Given the description of an element on the screen output the (x, y) to click on. 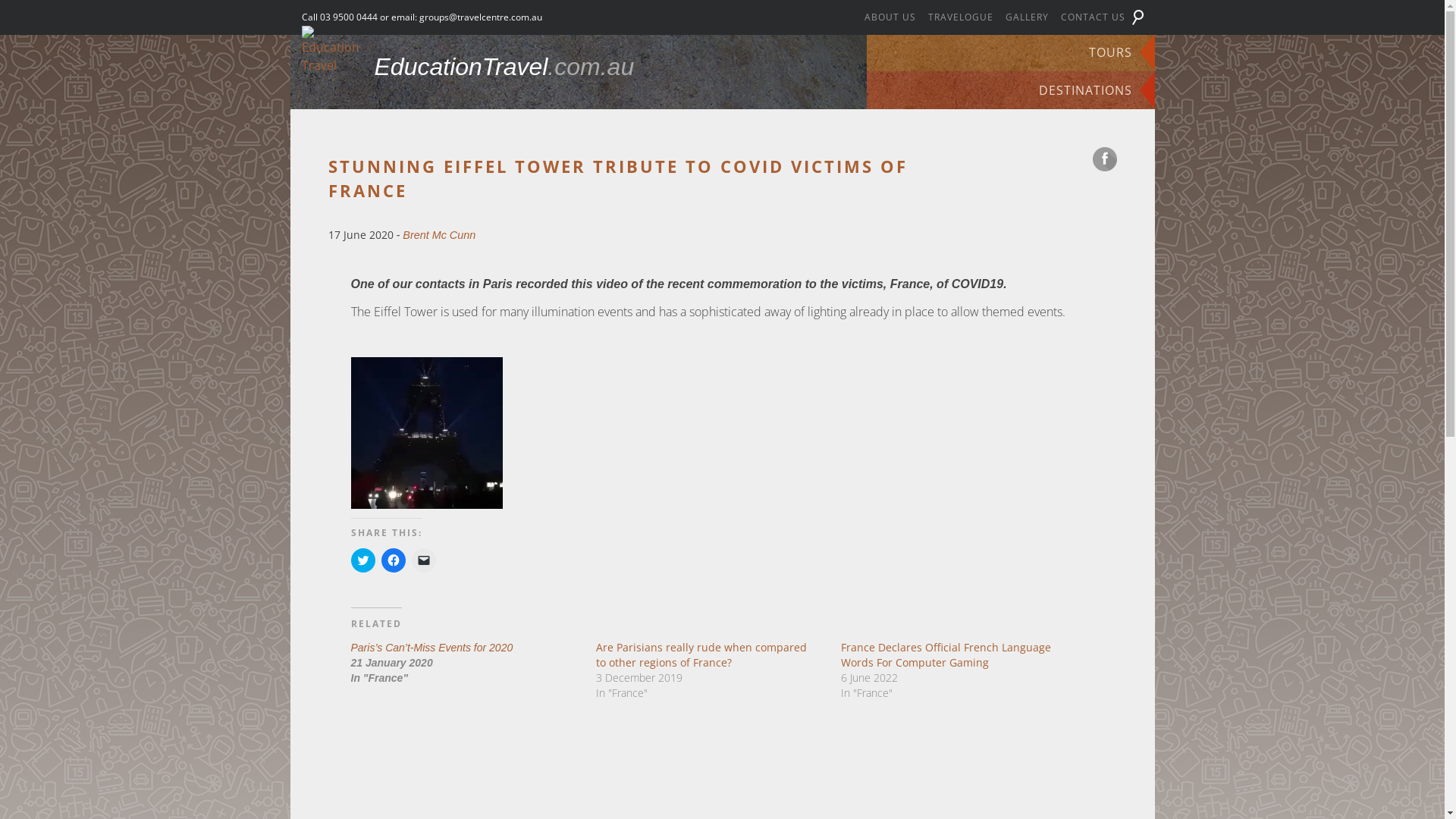
TOURS Element type: text (1010, 52)
TRAVELOGUE Element type: text (960, 17)
groups@travelcentre.com.au Element type: text (479, 16)
Search Element type: text (32, 14)
Brent Mc Cunn Element type: text (438, 235)
CLICK TO SHARE ON FACEBOOK (OPENS IN NEW WINDOW) Element type: text (392, 560)
CLICK TO SHARE ON TWITTER (OPENS IN NEW WINDOW) Element type: text (362, 560)
ABOUT US Element type: text (890, 17)
GALLERY Element type: text (1026, 17)
CONTACT US Element type: text (1092, 17)
03 9500 0444 Element type: text (348, 16)
CLICK TO EMAIL A LINK TO A FRIEND (OPENS IN NEW WINDOW) Element type: text (423, 560)
DESTINATIONS Element type: text (1010, 90)
